Given the description of an element on the screen output the (x, y) to click on. 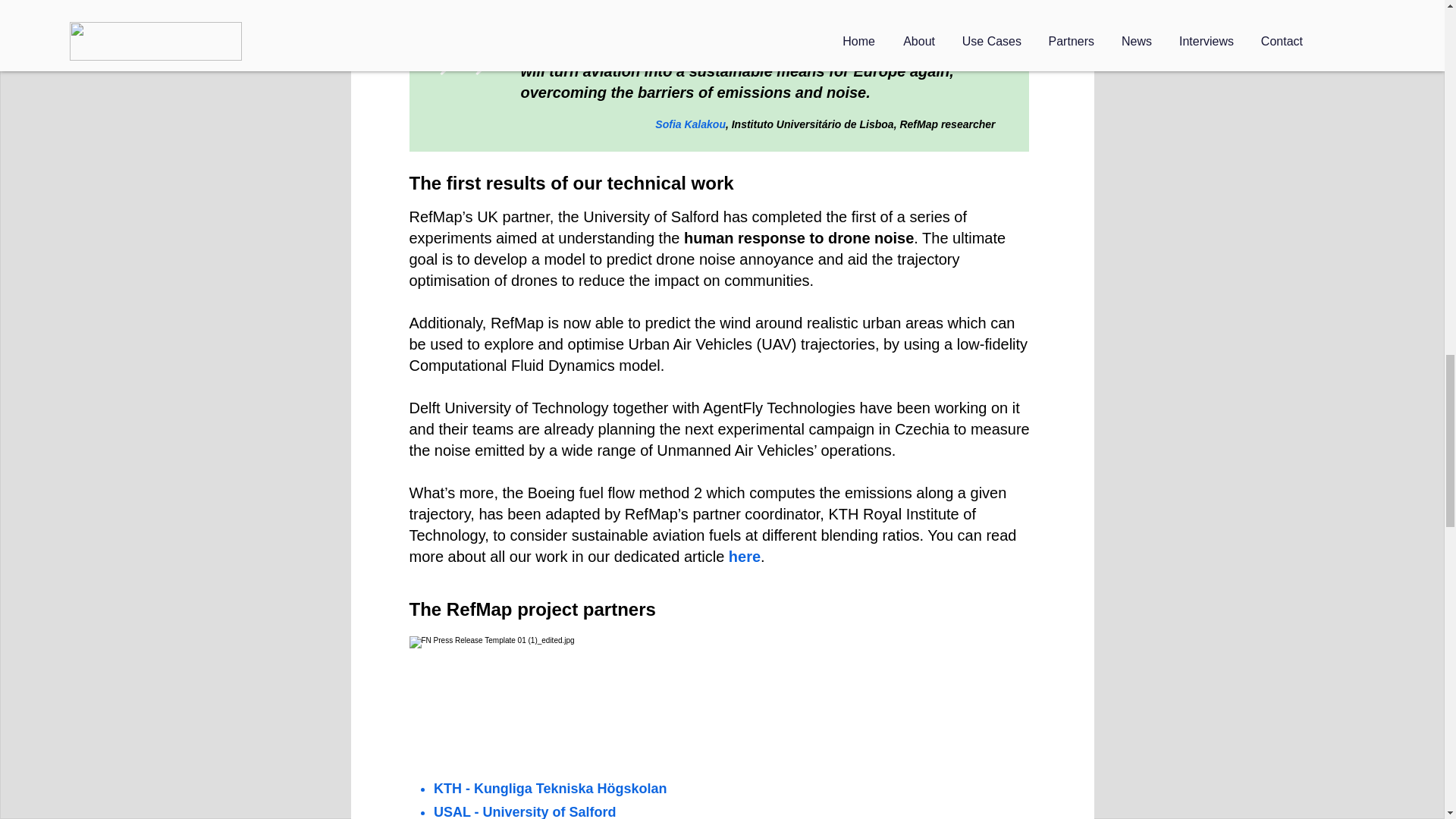
here (744, 556)
Sofia Kalakou (690, 123)
USAL - University of Salford (524, 811)
